Given the description of an element on the screen output the (x, y) to click on. 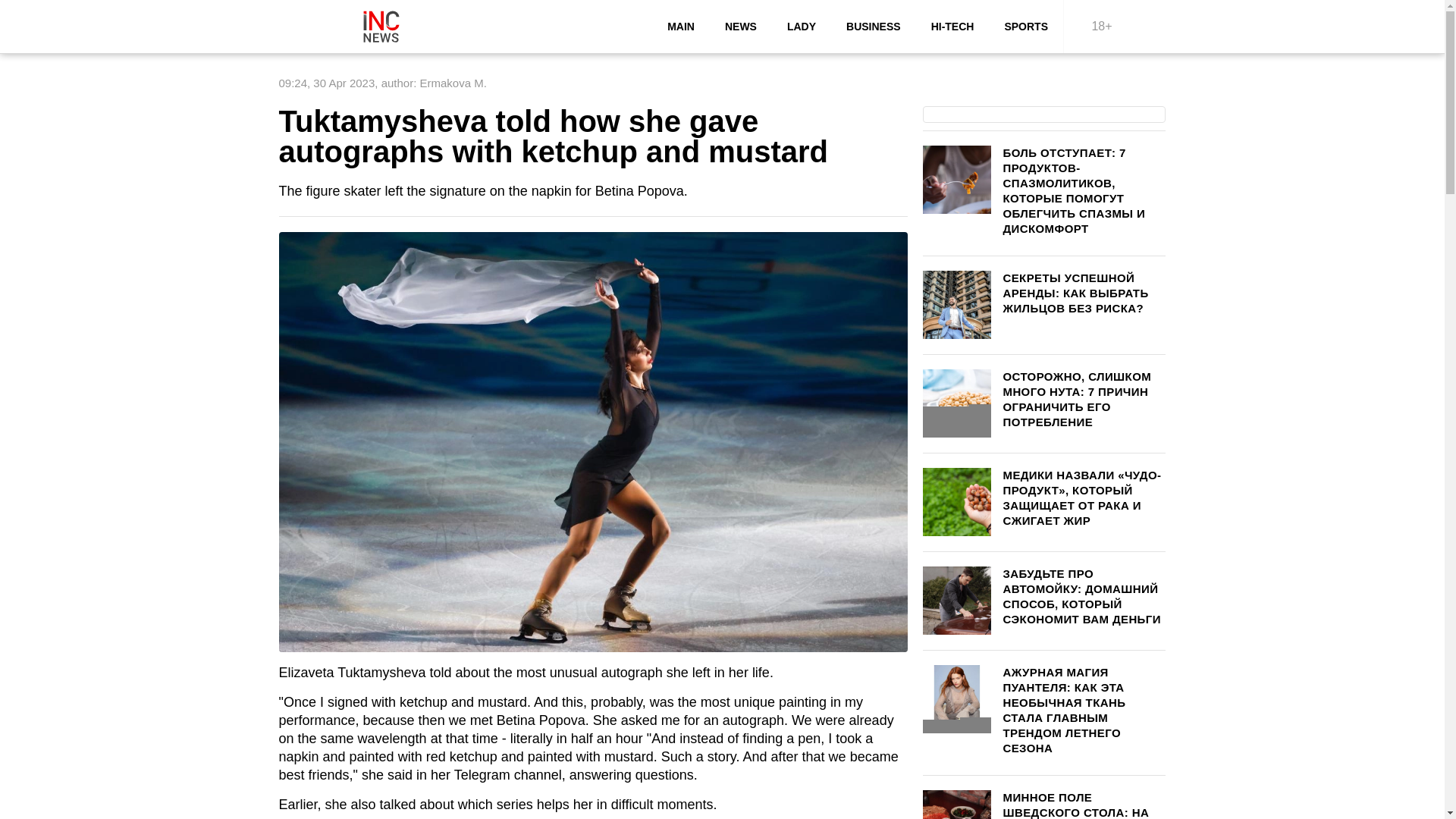
BUSINESS (873, 26)
SPORTS (1025, 26)
HI-TECH (952, 26)
NEWS (740, 26)
LADY (801, 26)
MAIN (681, 26)
